Given the description of an element on the screen output the (x, y) to click on. 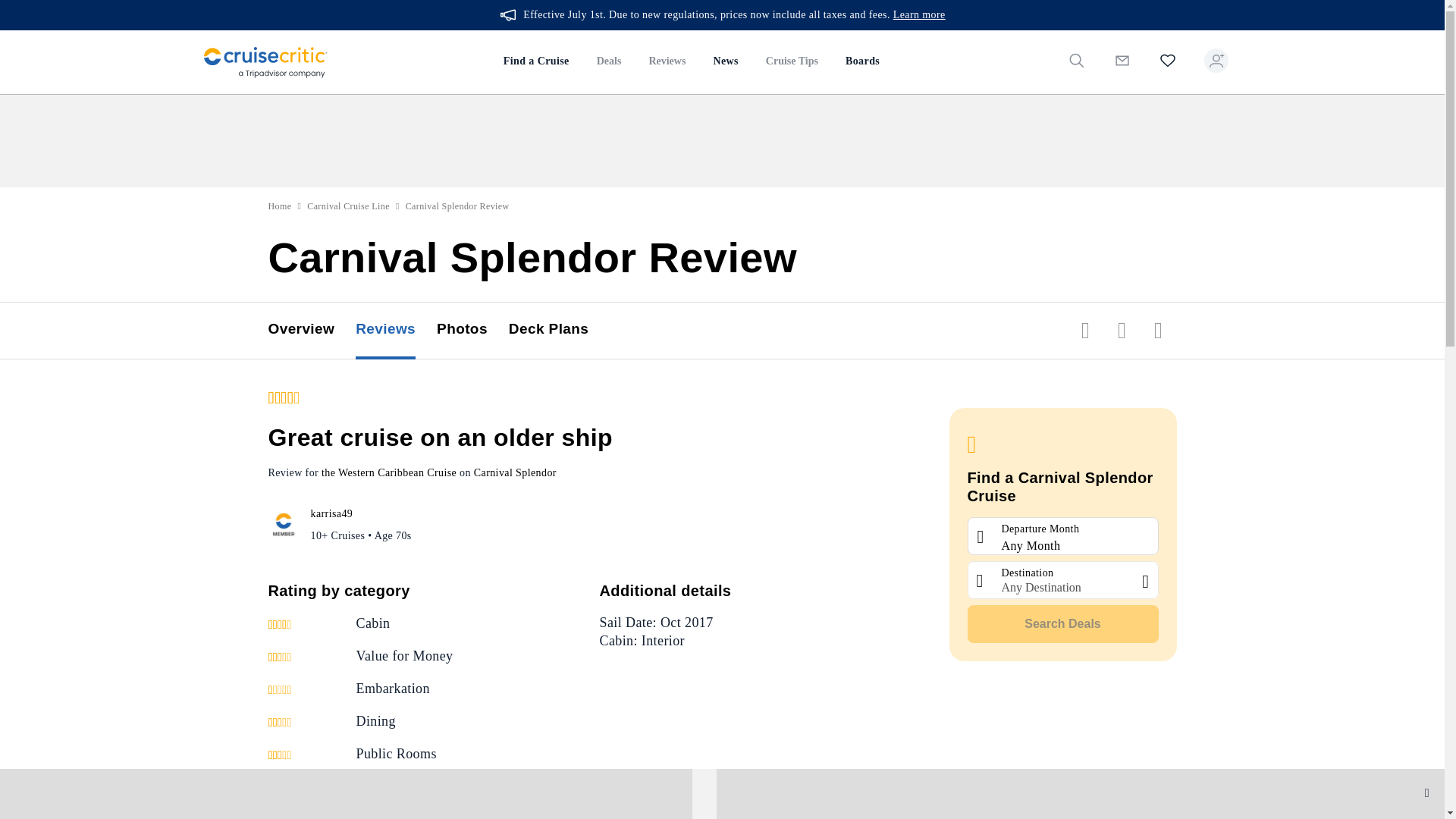
Find a Cruise (536, 62)
Boards (861, 62)
Photos (472, 330)
Cruise Tips (791, 62)
the Western Caribbean Cruise (389, 472)
Reviews (666, 62)
Overview (311, 330)
Carnival Splendor Review (457, 205)
Carnival Cruise Line (348, 205)
Reviews (395, 330)
